Given the description of an element on the screen output the (x, y) to click on. 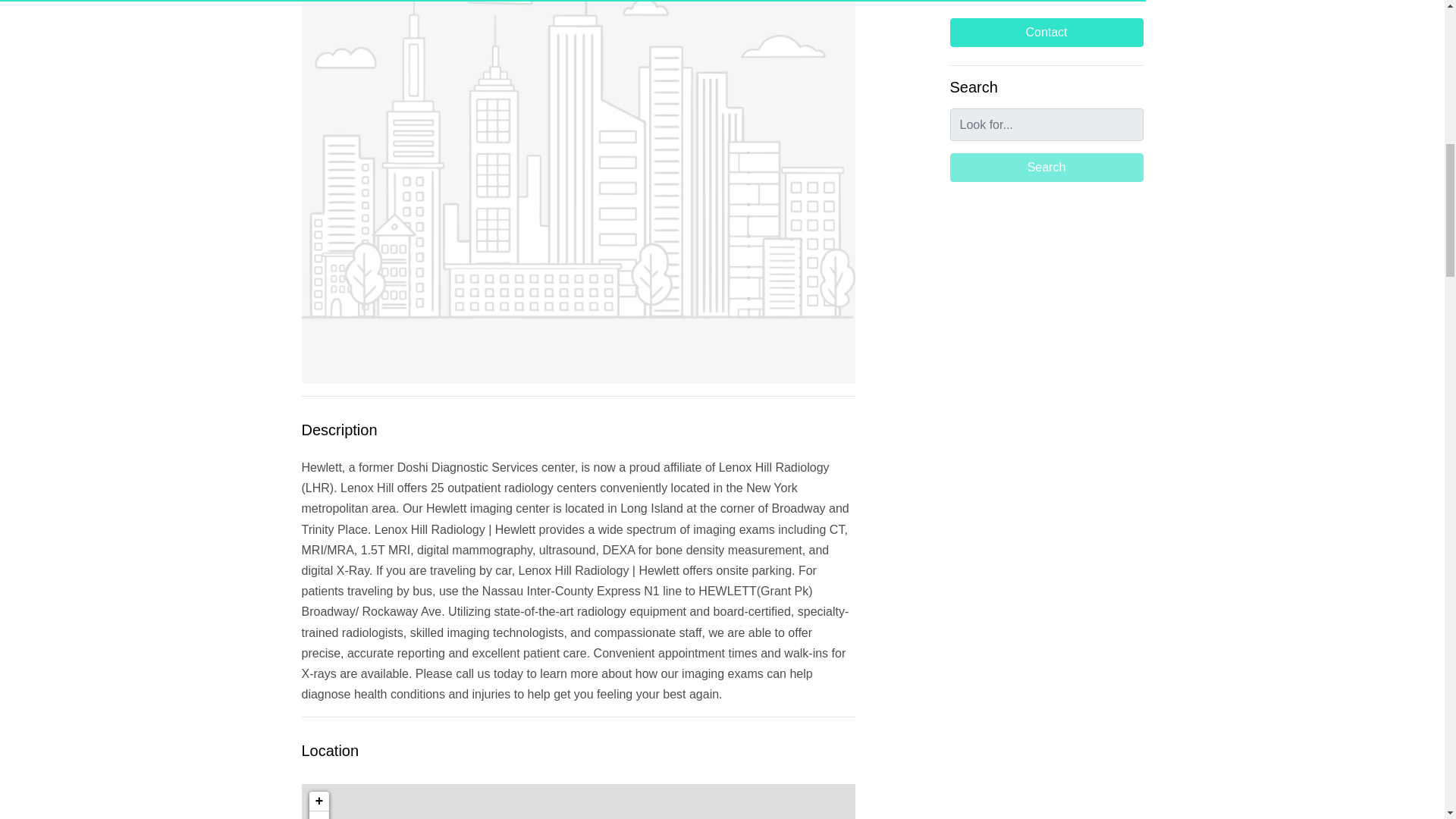
Zoom in (318, 801)
Search (1045, 167)
Zoom out (318, 815)
